Given the description of an element on the screen output the (x, y) to click on. 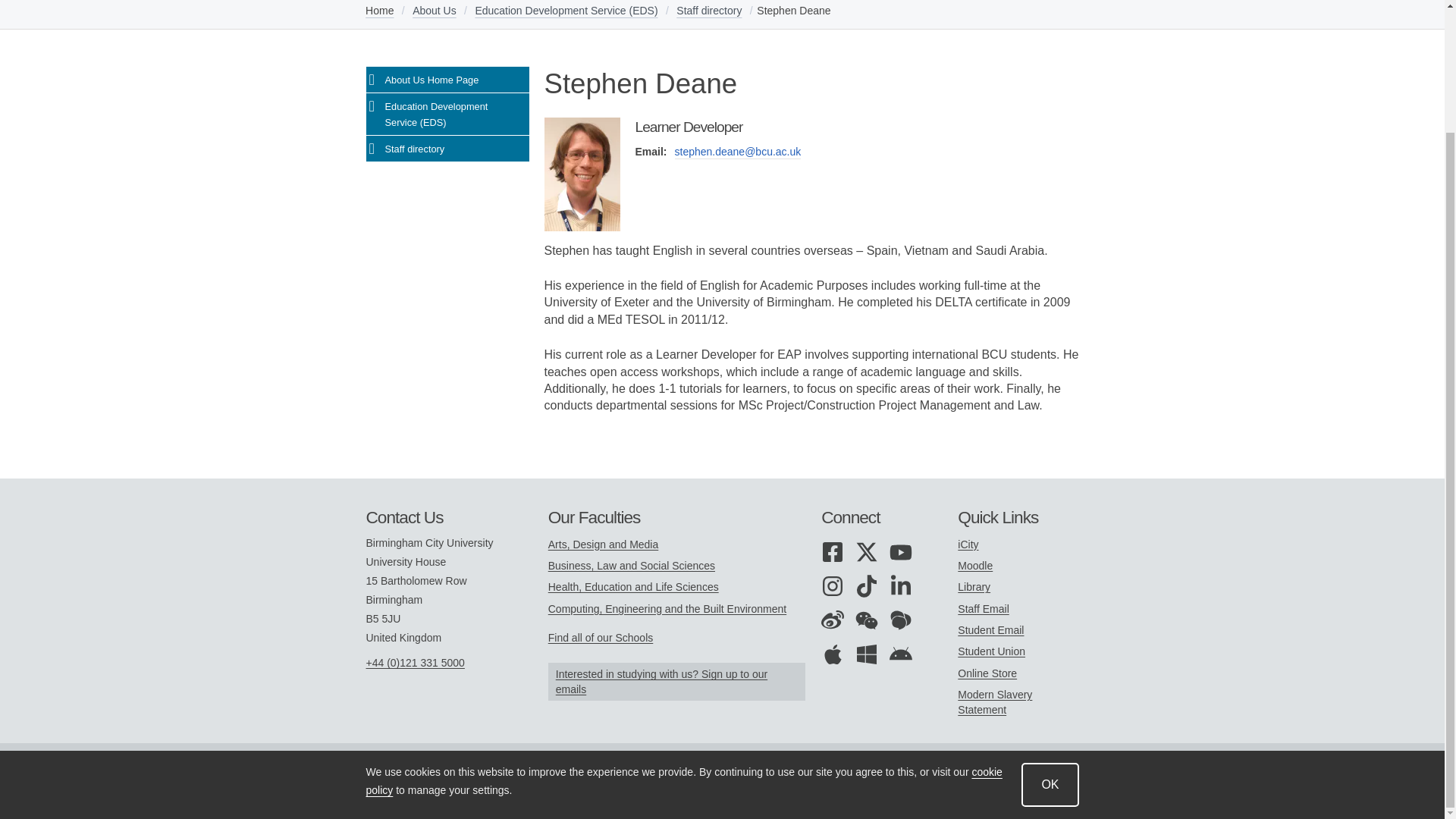
cookie policy (683, 634)
OK (1050, 637)
